Given the description of an element on the screen output the (x, y) to click on. 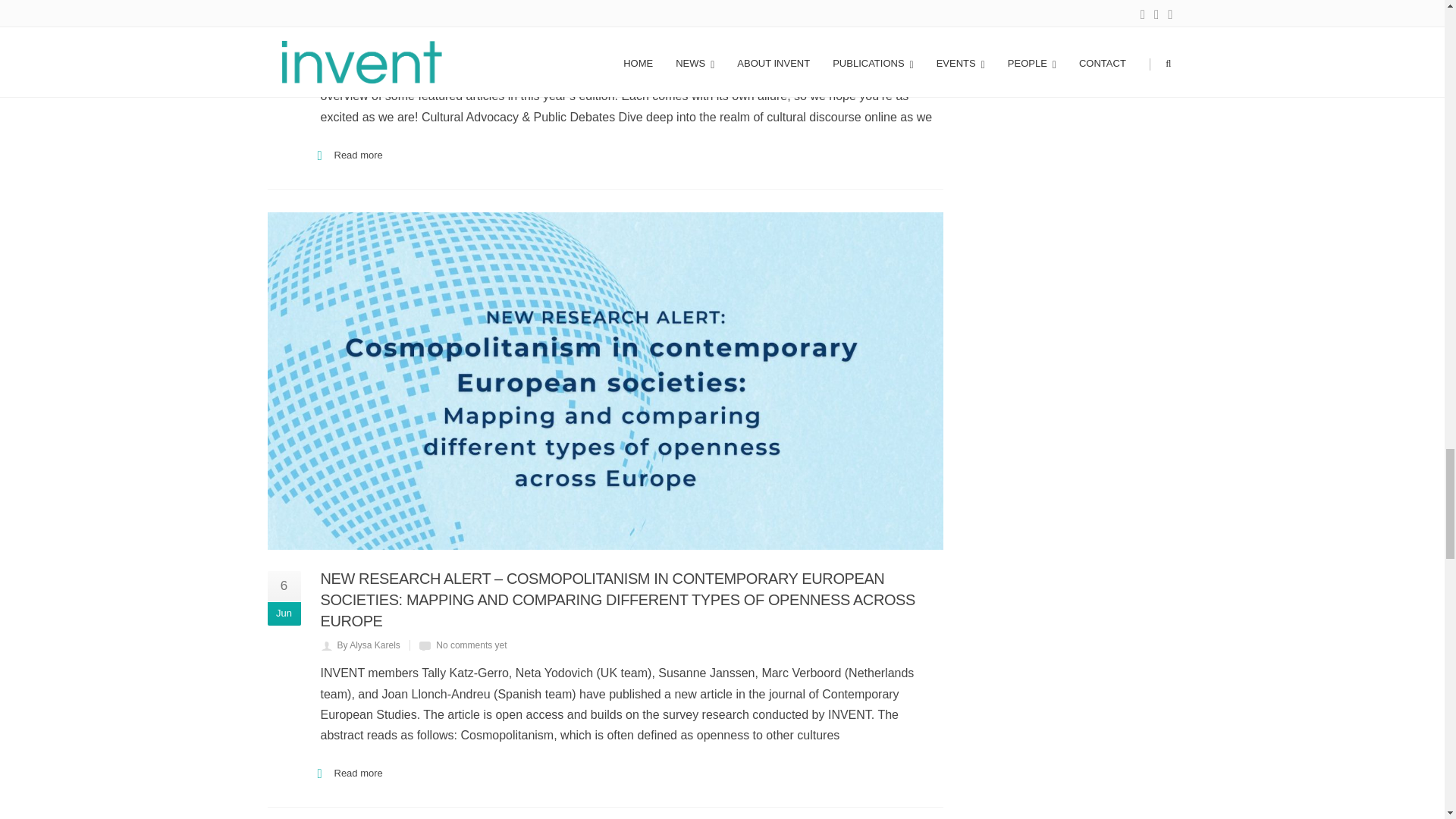
Permalink to INVENT Newsletter 3 is out now! (453, 23)
